Given the description of an element on the screen output the (x, y) to click on. 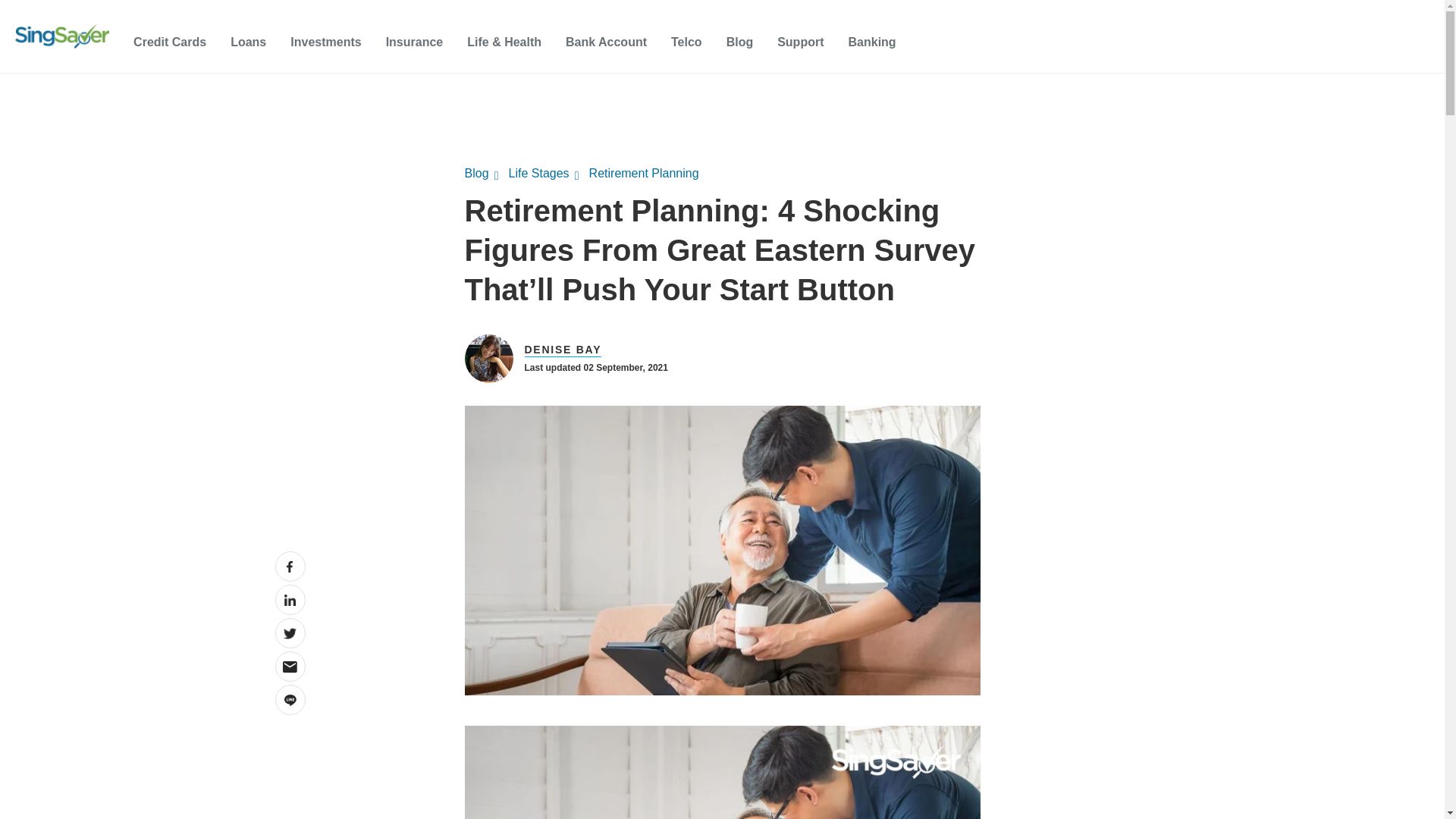
Share on Line (289, 699)
Loans (248, 42)
Credit Cards (169, 42)
